Given the description of an element on the screen output the (x, y) to click on. 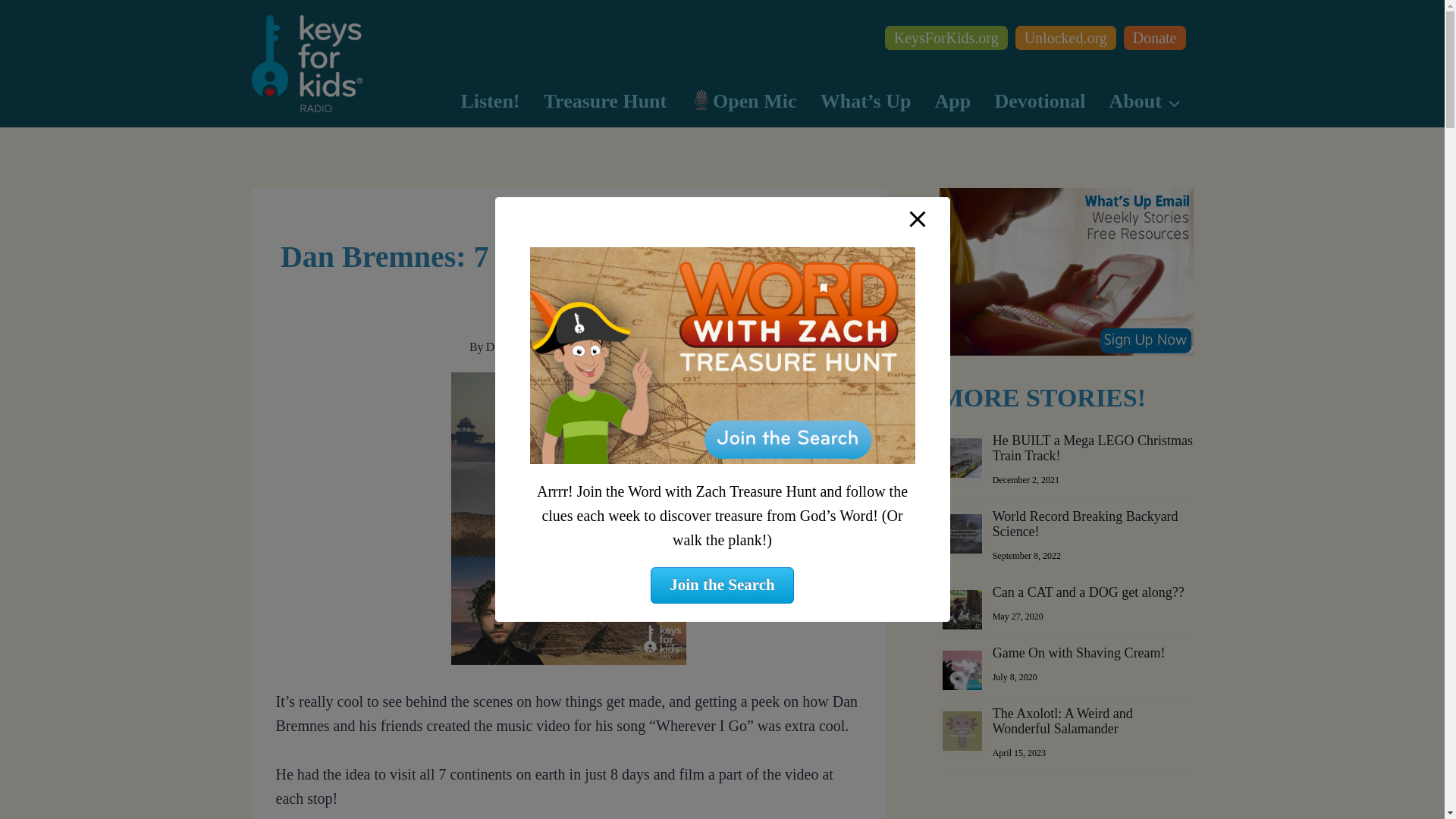
Unlocked.org (1065, 37)
KeysForKids.org (946, 37)
Devotional (1039, 101)
Treasure Hunt (604, 101)
BEHIND THE MUSIC (568, 220)
Listen! (489, 101)
About (1145, 101)
Open Mic (743, 101)
Dylan Kraayenbrink (535, 346)
App (952, 101)
